Given the description of an element on the screen output the (x, y) to click on. 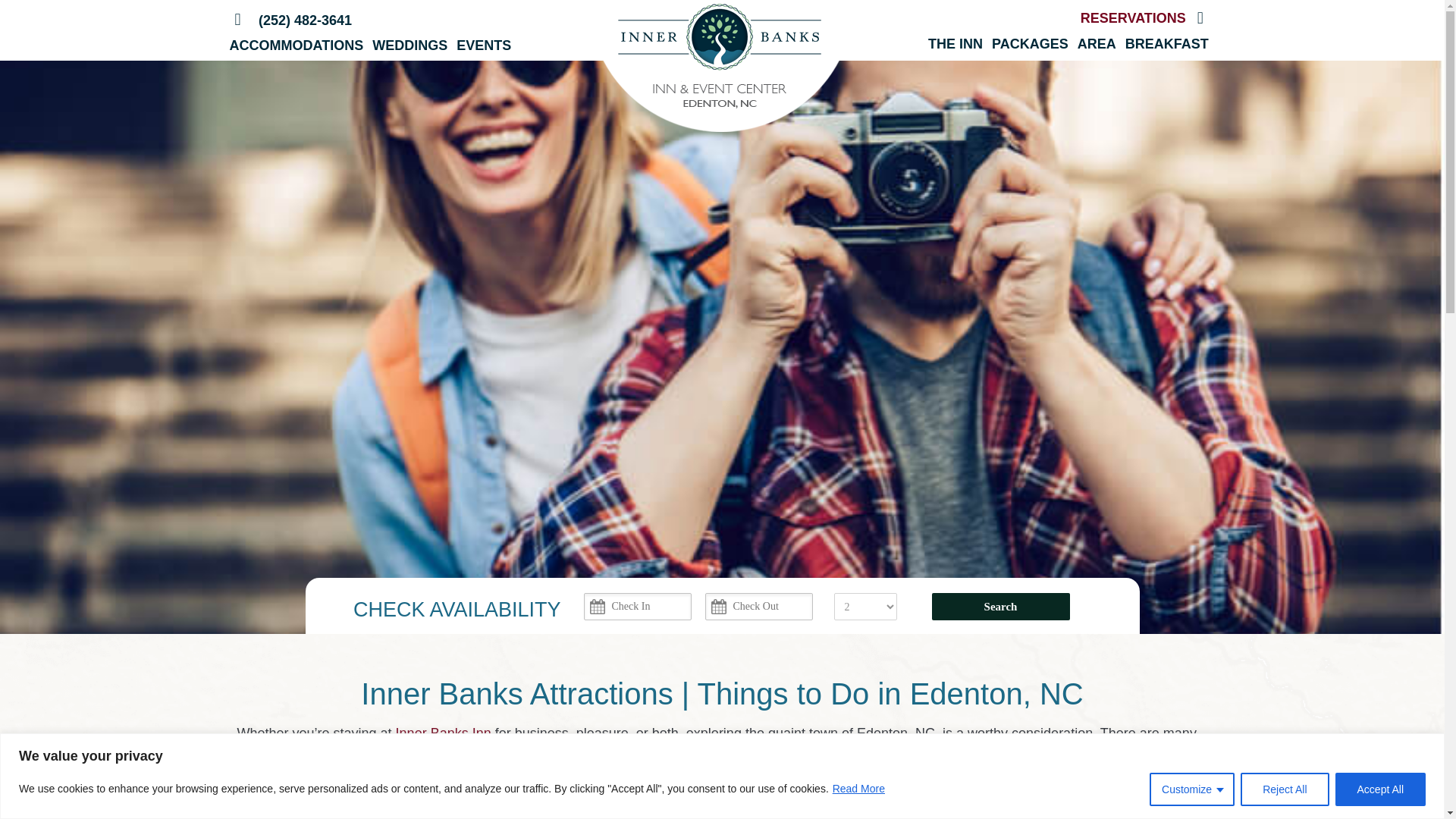
Read More (858, 788)
EVENTS (484, 45)
PACKAGES (1029, 43)
ACCOMMODATIONS (295, 45)
WEDDINGS (409, 45)
Home (237, 19)
Full Menu (1200, 17)
AREA (1096, 43)
Accept All (1380, 788)
RESERVATIONS (1133, 17)
Search (999, 605)
BREAKFAST (1166, 43)
THE INN (955, 43)
Reject All (1283, 788)
Customize (1192, 788)
